Given the description of an element on the screen output the (x, y) to click on. 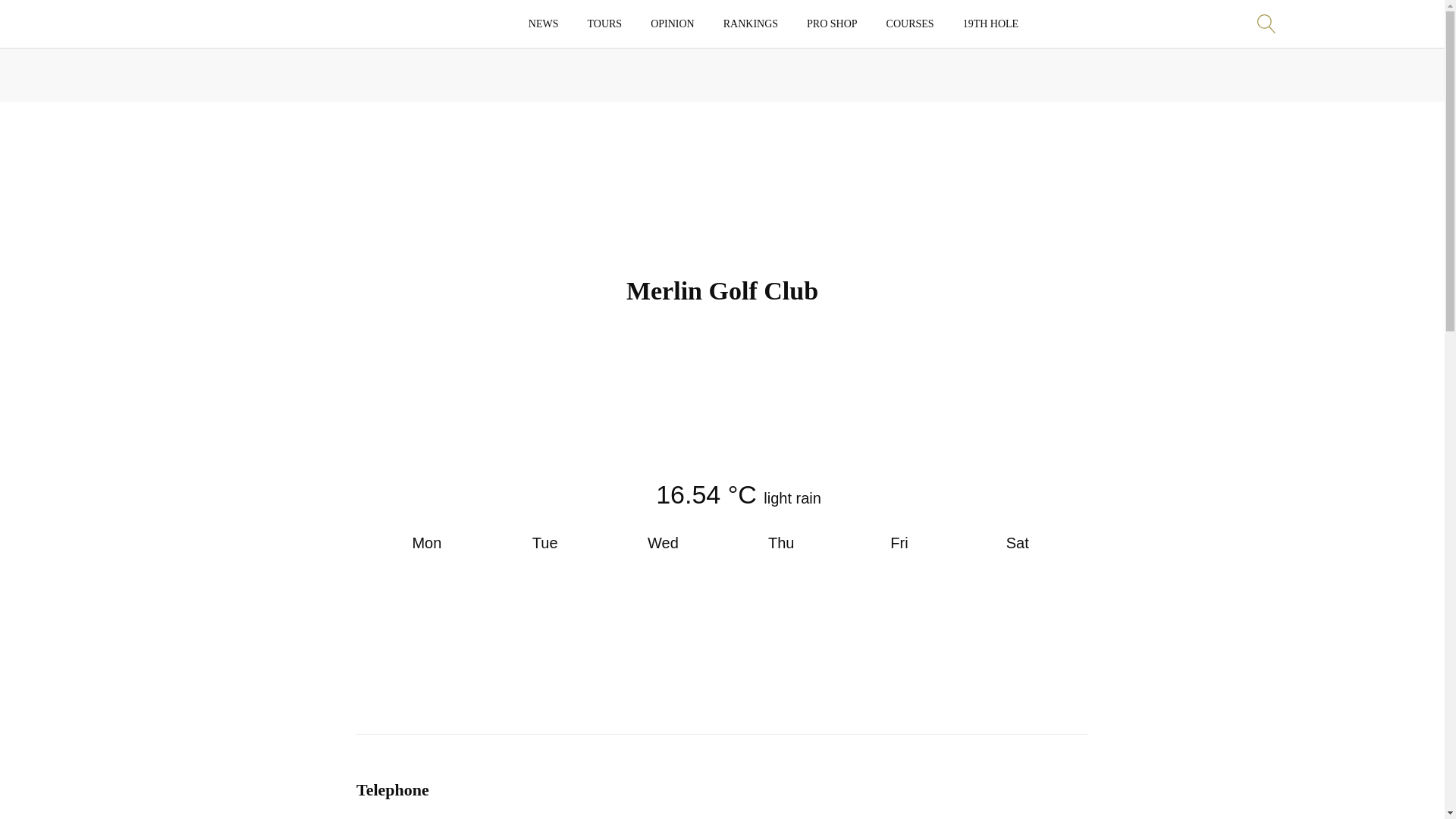
OPINION (672, 24)
RANKINGS (750, 24)
COURSES (910, 24)
TOURS (604, 24)
PRO SHOP (831, 24)
